Given the description of an element on the screen output the (x, y) to click on. 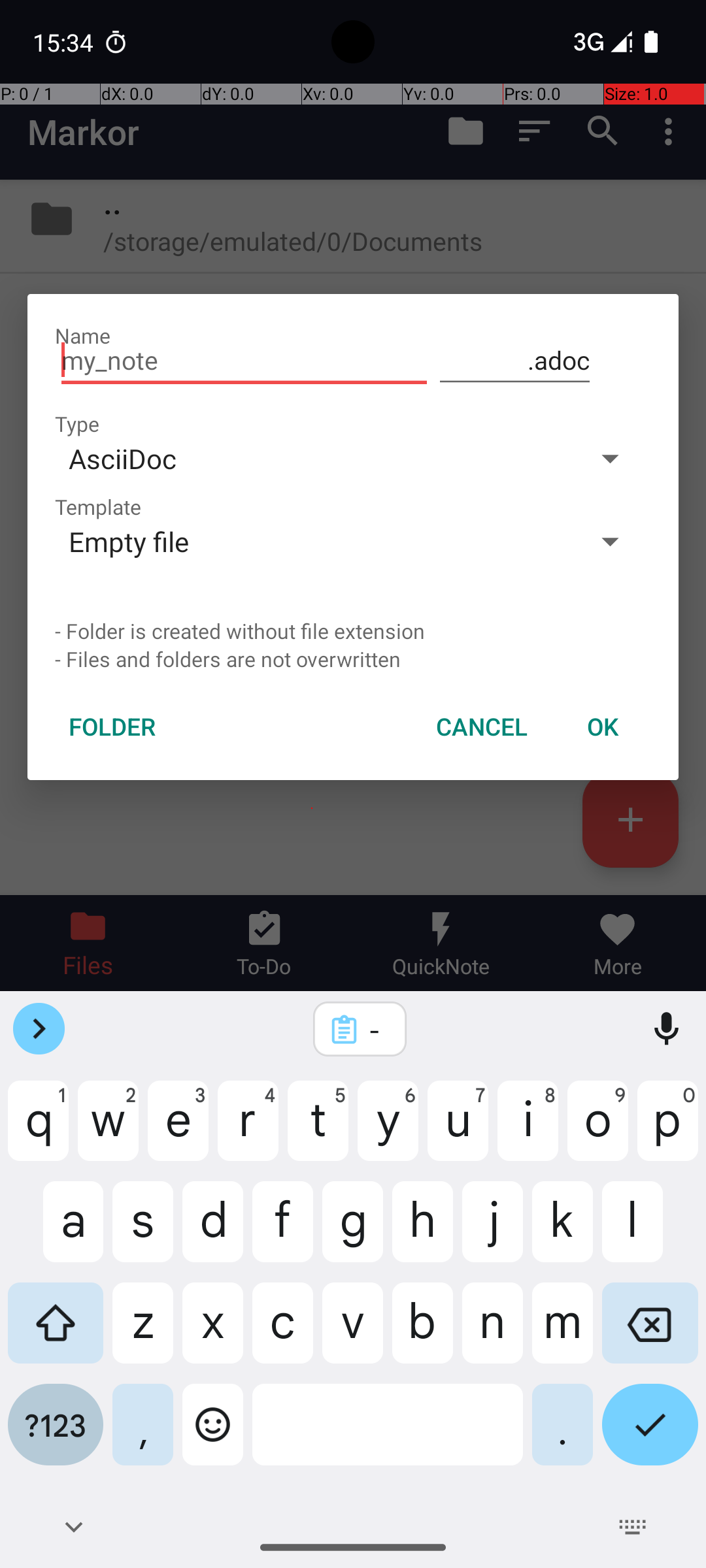
.adoc Element type: android.widget.EditText (514, 360)
